Given the description of an element on the screen output the (x, y) to click on. 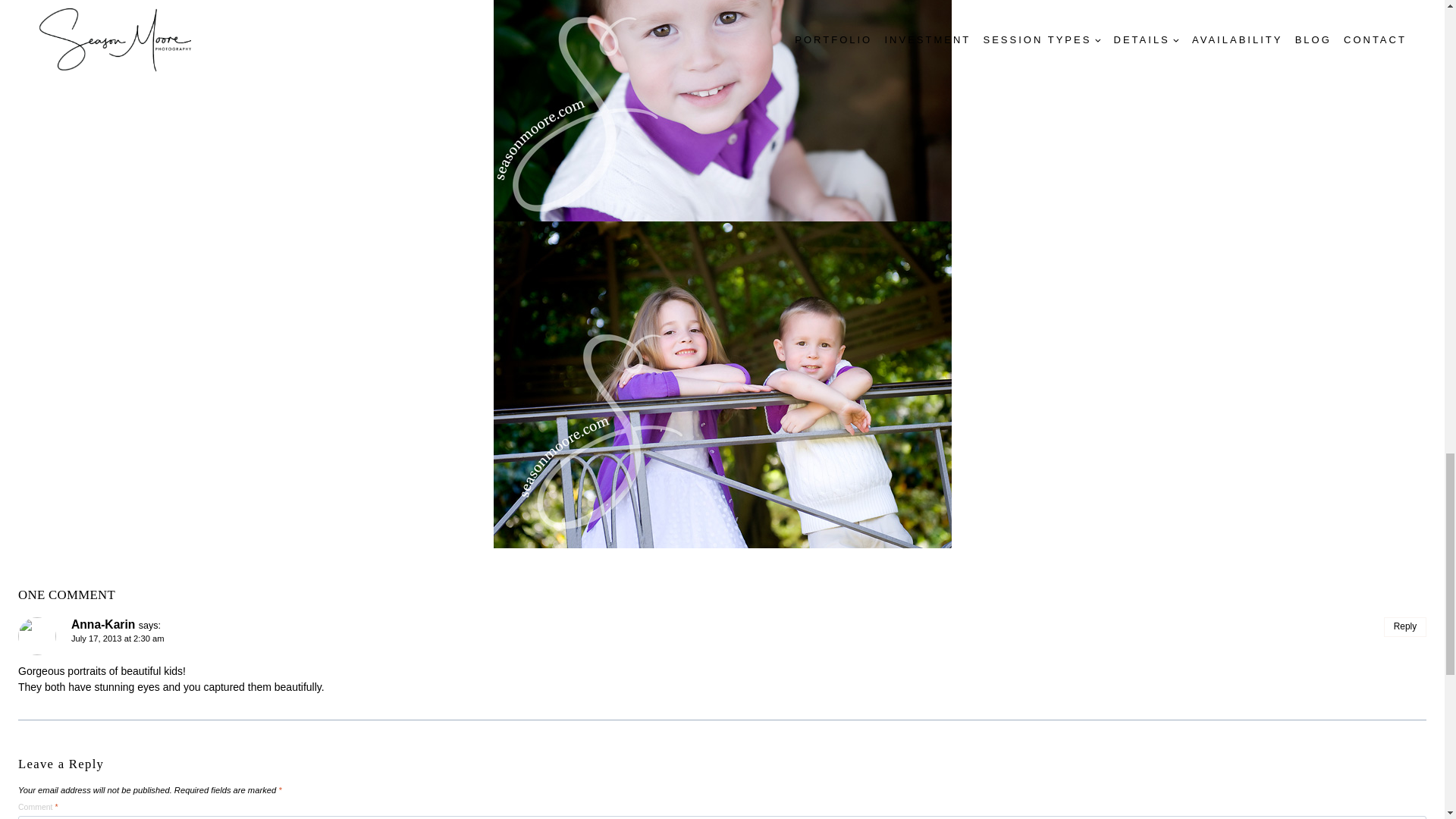
Reply (1405, 627)
Anna-Karin (103, 624)
Boy outside purple (721, 110)
July 17, 2013 at 2:30 am (117, 637)
